Given the description of an element on the screen output the (x, y) to click on. 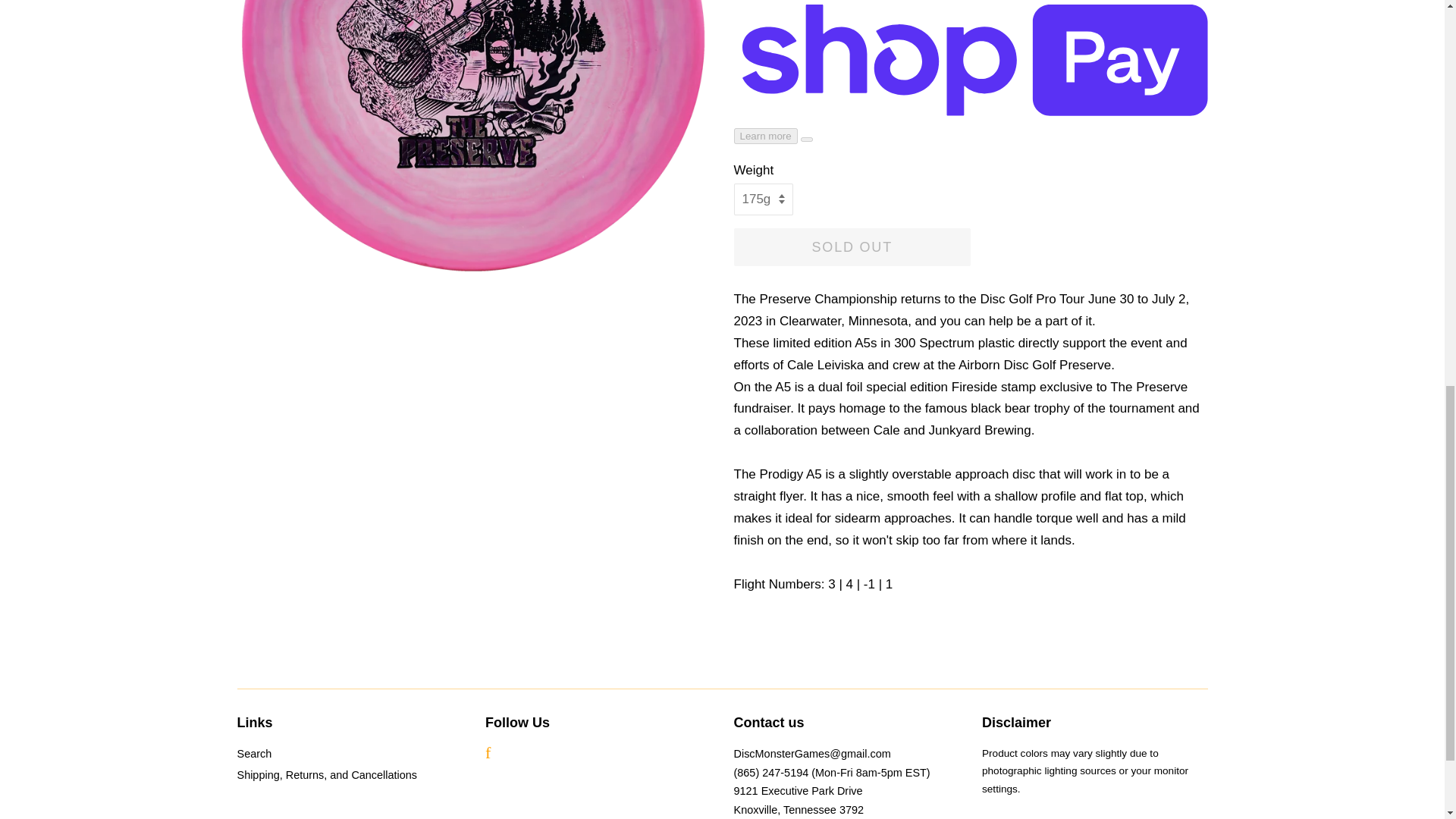
Shipping, Returns, and Cancellations (325, 775)
Search (252, 753)
SOLD OUT (852, 247)
